Given the description of an element on the screen output the (x, y) to click on. 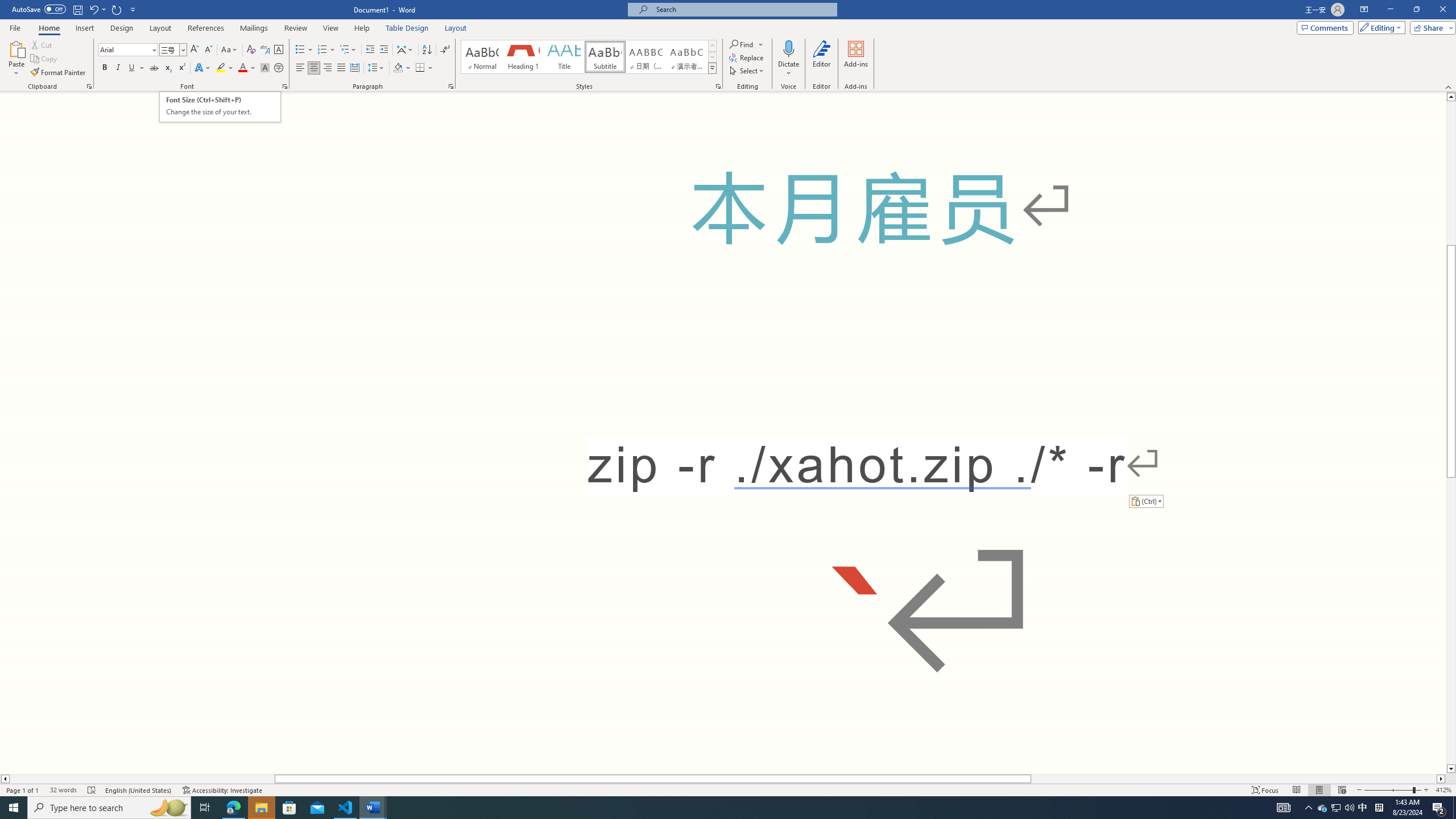
Word Count 32 words (63, 790)
Page left (142, 778)
Repeat Doc Close (117, 9)
Subtitle (605, 56)
Heading 1 (522, 56)
